Given the description of an element on the screen output the (x, y) to click on. 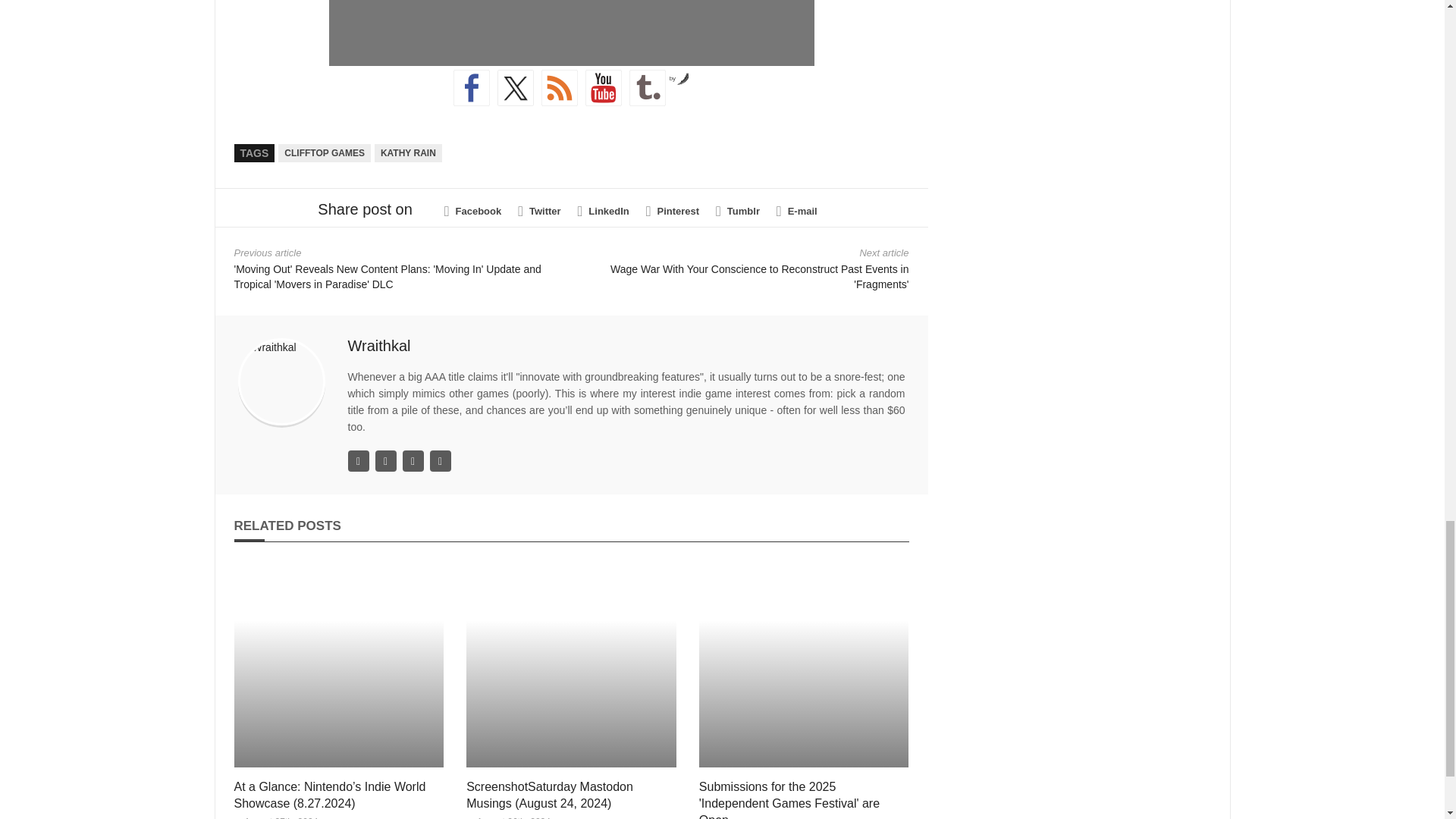
Posts by Wraithkal (378, 345)
by (679, 78)
LinkedIn (603, 211)
E-mail (796, 211)
Pinterest (672, 211)
Wraithkal: The Indie Gaming Corner on Tumblr (646, 87)
CLIFFTOP GAMES (324, 153)
Tumblr (738, 211)
